Given the description of an element on the screen output the (x, y) to click on. 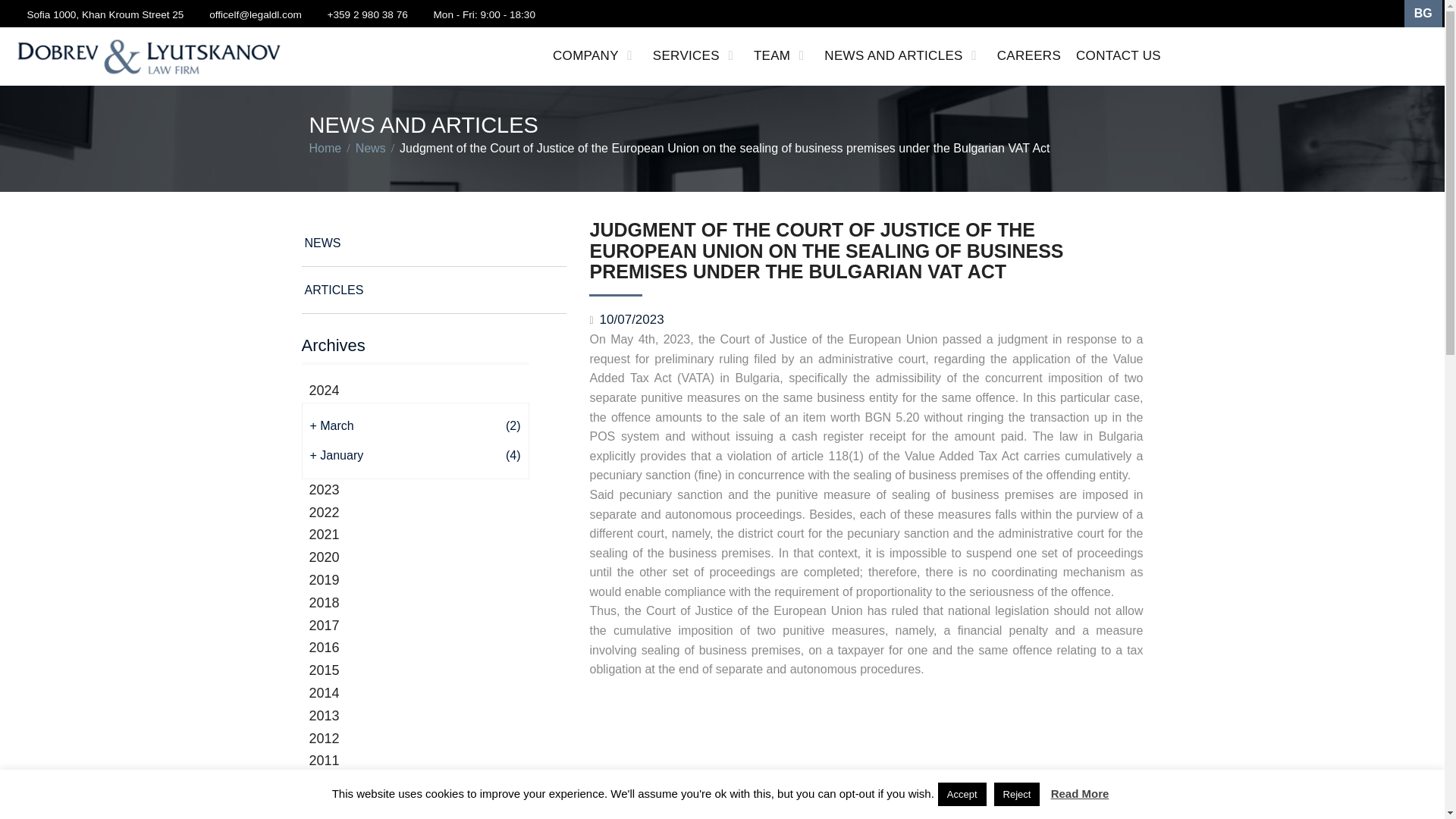
Sofia 1000, Khan Kroum Street 25 (104, 14)
BG (1423, 13)
